Given the description of an element on the screen output the (x, y) to click on. 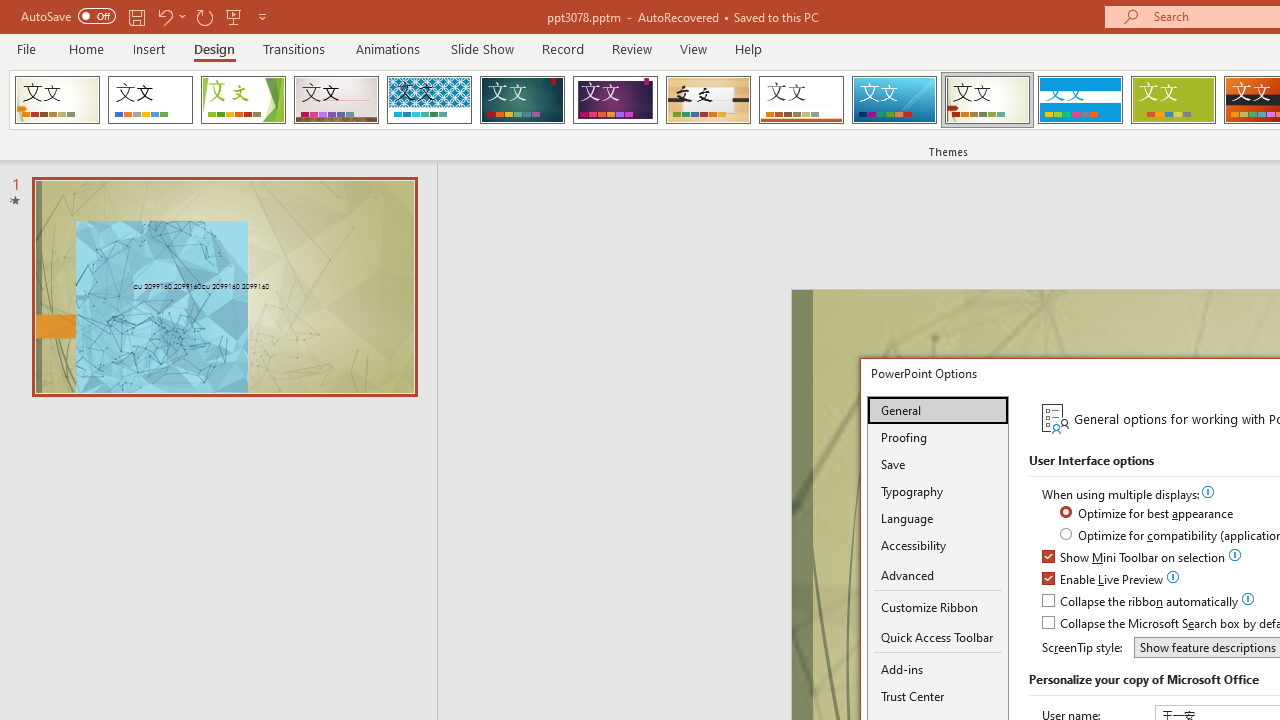
Retrospect Loading Preview... (801, 100)
Language (937, 518)
Gallery (336, 100)
Basis Loading Preview... (1172, 100)
Wisp Loading Preview... (987, 100)
Ion Loading Preview... (522, 100)
Slice Loading Preview... (893, 100)
Add-ins (937, 669)
Integral Loading Preview... (429, 100)
Banded Loading Preview... (1080, 100)
General (937, 410)
